Given the description of an element on the screen output the (x, y) to click on. 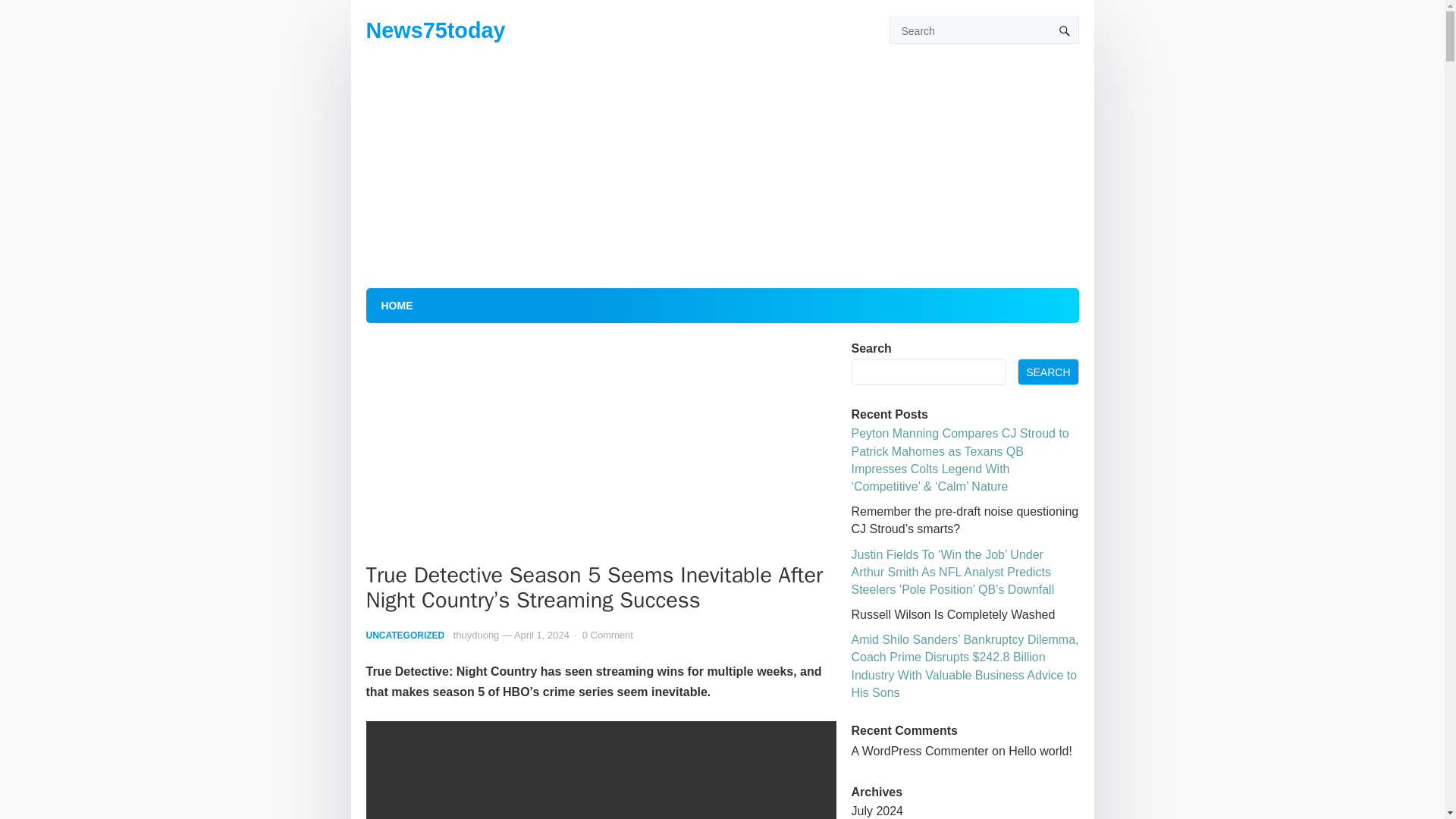
SEARCH (1047, 371)
News75today (435, 30)
0 Comment (607, 634)
UNCATEGORIZED (404, 634)
July 2024 (876, 810)
Posts by thuyduong (475, 634)
thuyduong (475, 634)
A WordPress Commenter (919, 750)
Advertisement (600, 449)
Hello world! (1040, 750)
HOME (396, 305)
Russell Wilson Is Completely Washed (952, 614)
